Given the description of an element on the screen output the (x, y) to click on. 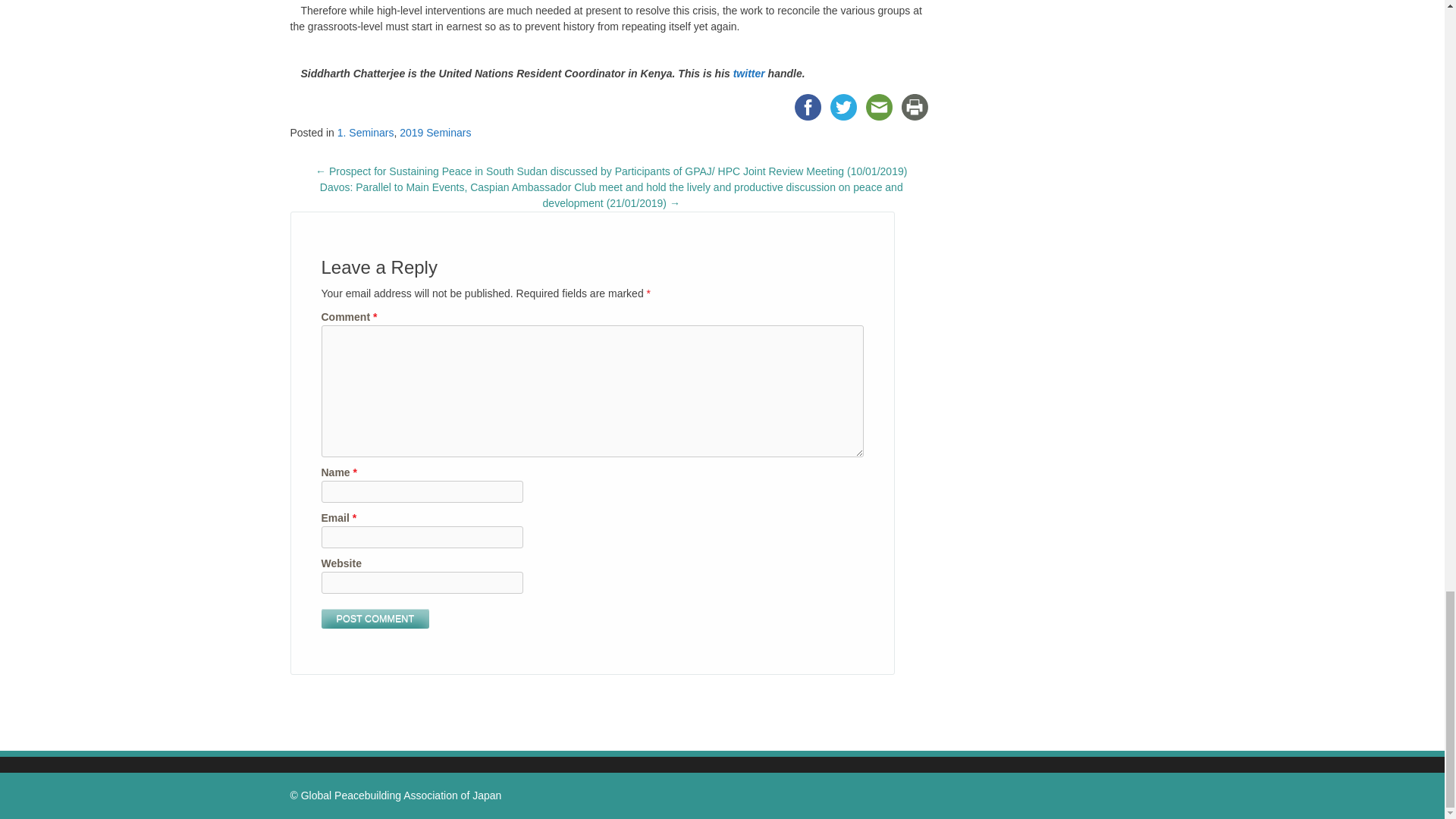
twitter (843, 107)
print (914, 107)
email (878, 107)
facebook (807, 107)
twitter (749, 73)
Post Comment (375, 619)
